Given the description of an element on the screen output the (x, y) to click on. 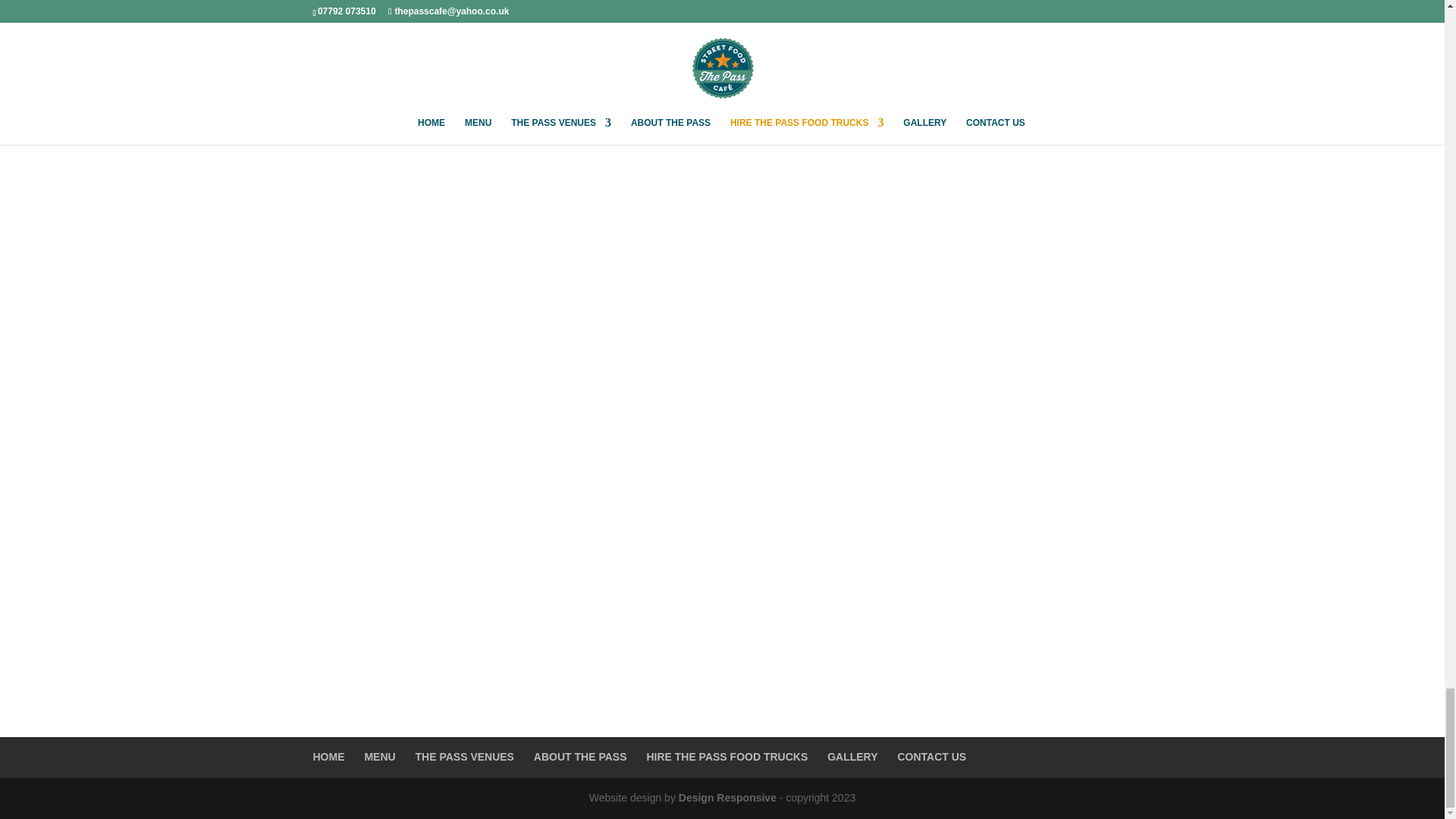
GALLERY (852, 756)
CONTACT US (931, 756)
MENU (379, 756)
HIRE THE PASS FOOD TRUCKS (727, 756)
Design Responsive (727, 797)
THE PASS VENUES (463, 756)
ABOUT THE PASS (580, 756)
HOME (328, 756)
